Given the description of an element on the screen output the (x, y) to click on. 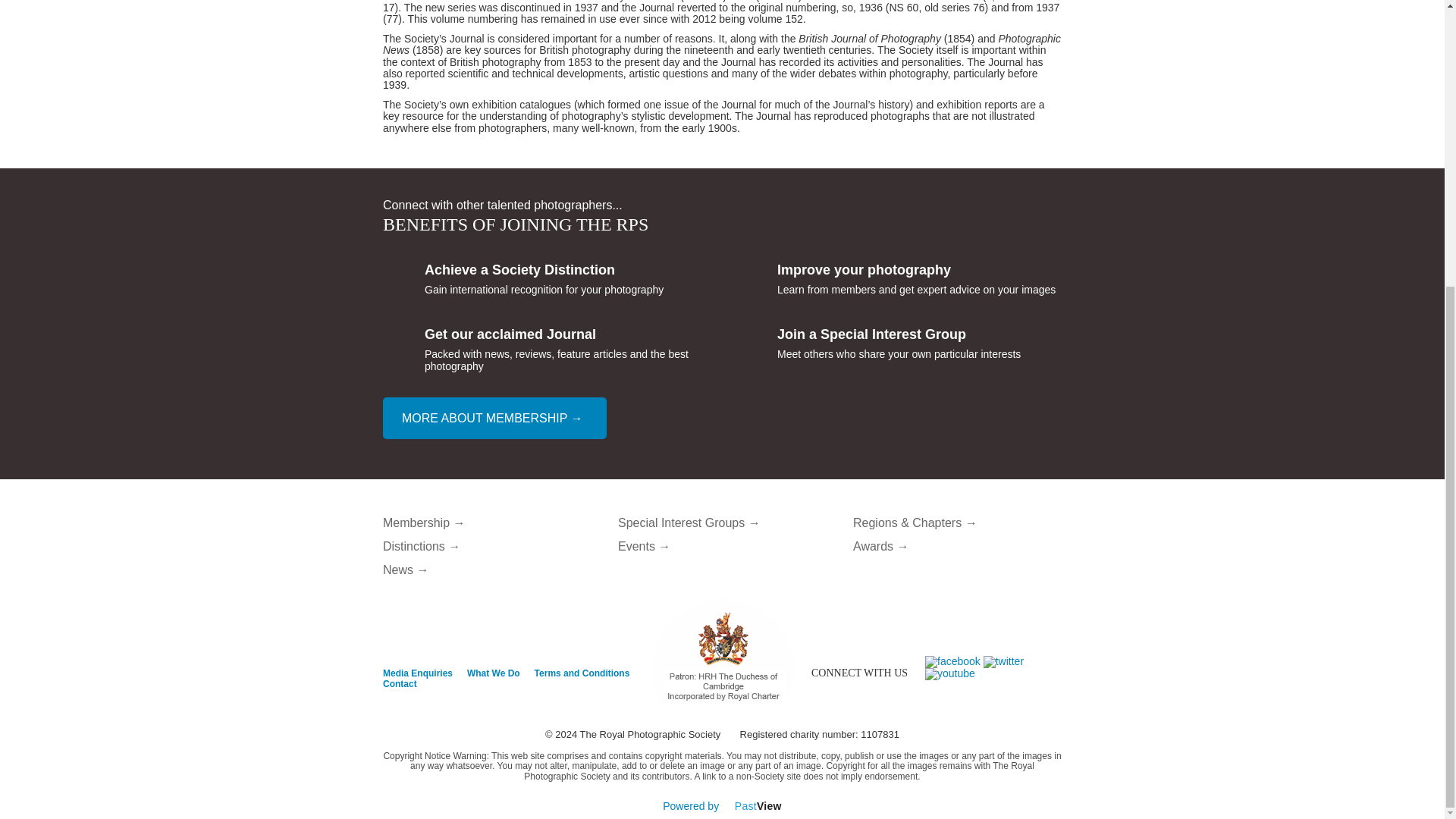
Connect with us (954, 661)
Powered by PastView (721, 806)
Terms and Conditions (582, 673)
Contact (399, 683)
Connect with us (949, 673)
Media Enquiries (417, 673)
What We Do (493, 673)
Connect with us (1003, 661)
